Given the description of an element on the screen output the (x, y) to click on. 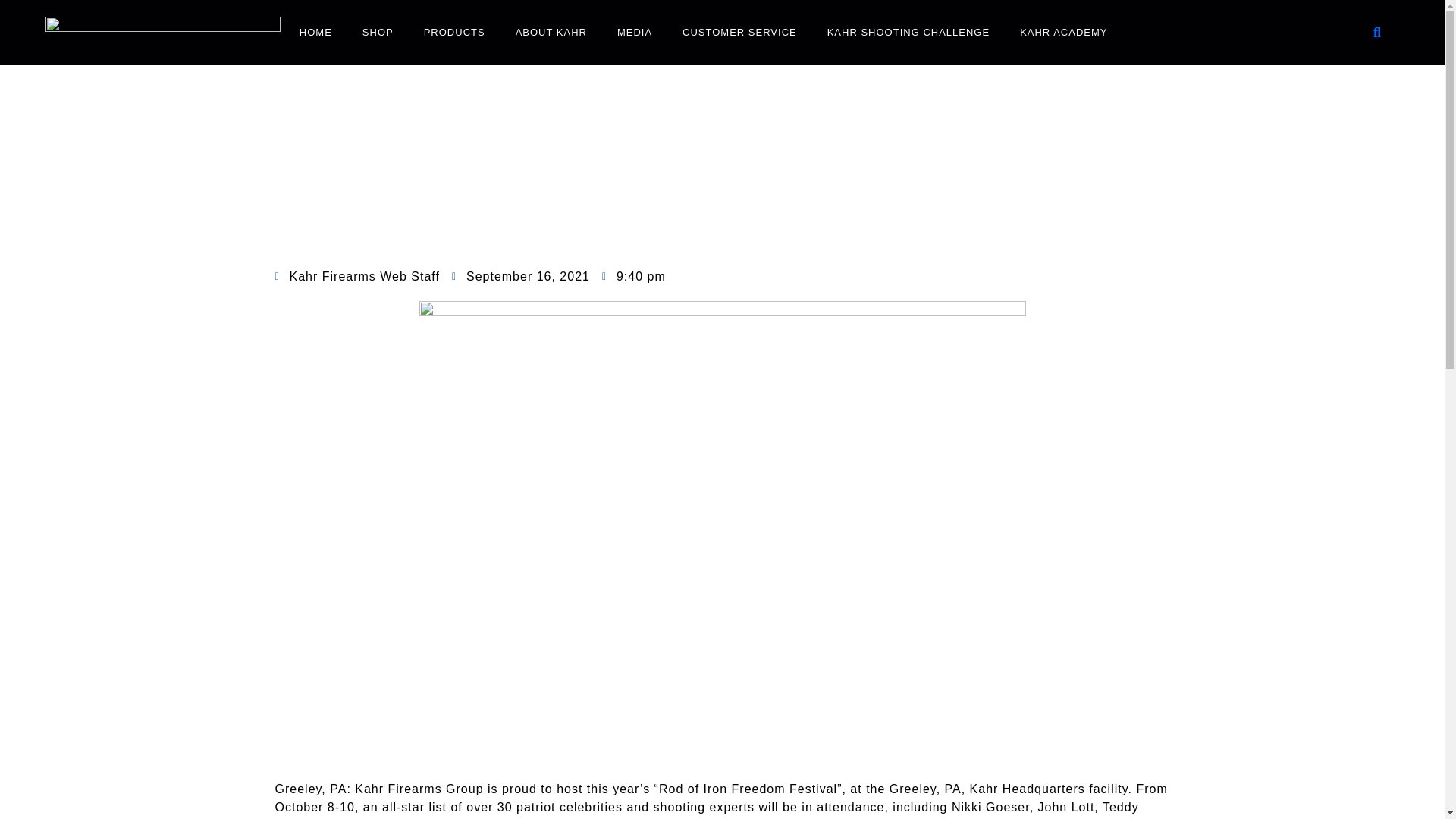
MEDIA (634, 32)
HOME (315, 32)
CUSTOMER SERVICE (739, 32)
KAHR SHOOTING CHALLENGE (908, 32)
SHOP (378, 32)
ABOUT KAHR (551, 32)
PRODUCTS (454, 32)
